Given the description of an element on the screen output the (x, y) to click on. 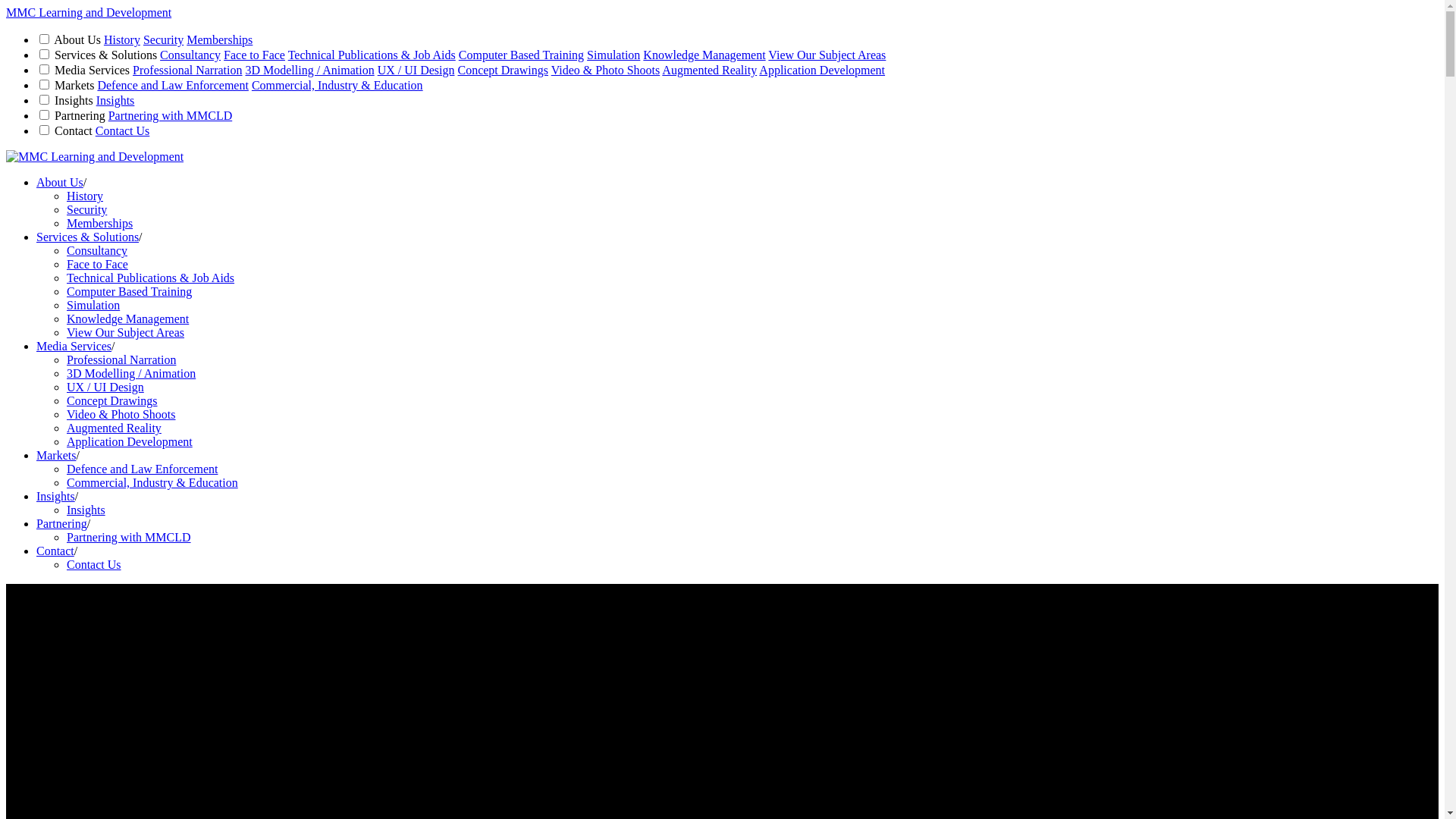
Knowledge Management Element type: text (127, 318)
Computer Based Training Element type: text (520, 54)
About Us Element type: text (59, 181)
Consultancy Element type: text (190, 54)
Augmented Reality Element type: text (113, 427)
Markets Element type: text (55, 454)
Simulation Element type: text (92, 304)
Technical Publications & Job Aids Element type: text (371, 54)
Computer Based Training Element type: text (128, 291)
Defence and Law Enforcement Element type: text (172, 84)
Face to Face Element type: text (97, 263)
Augmented Reality Element type: text (709, 69)
Application Development Element type: text (821, 69)
Professional Narration Element type: text (186, 69)
Partnering with MMCLD Element type: text (170, 115)
Simulation Element type: text (613, 54)
View Our Subject Areas Element type: text (125, 332)
Media Services Element type: text (73, 345)
Insights Element type: text (55, 495)
Services & Solutions Element type: text (87, 236)
Knowledge Management Element type: text (704, 54)
UX / UI Design Element type: text (416, 69)
Memberships Element type: text (99, 222)
UX / UI Design Element type: text (105, 386)
3D Modelling / Animation Element type: text (130, 373)
Contact Element type: text (55, 550)
Professional Narration Element type: text (120, 359)
Video & Photo Shoots Element type: text (120, 413)
Partnering Element type: text (61, 523)
Defence and Law Enforcement Element type: text (141, 468)
3D Modelling / Animation Element type: text (308, 69)
Memberships Element type: text (219, 39)
Concept Drawings Element type: text (111, 400)
History Element type: text (121, 39)
Concept Drawings Element type: text (502, 69)
Contact Us Element type: text (122, 130)
Security Element type: text (86, 209)
Security Element type: text (163, 39)
MMC Learning and Development Element type: text (88, 12)
Consultancy Element type: text (96, 250)
Insights Element type: text (115, 100)
Commercial, Industry & Education Element type: text (337, 84)
Application Development Element type: text (129, 441)
Contact Us Element type: text (93, 564)
Partnering with MMCLD Element type: text (128, 536)
History Element type: text (84, 195)
Face to Face Element type: text (254, 54)
Commercial, Industry & Education Element type: text (152, 482)
Technical Publications & Job Aids Element type: text (150, 277)
View Our Subject Areas Element type: text (826, 54)
Insights Element type: text (85, 509)
Video & Photo Shoots Element type: text (605, 69)
